Given the description of an element on the screen output the (x, y) to click on. 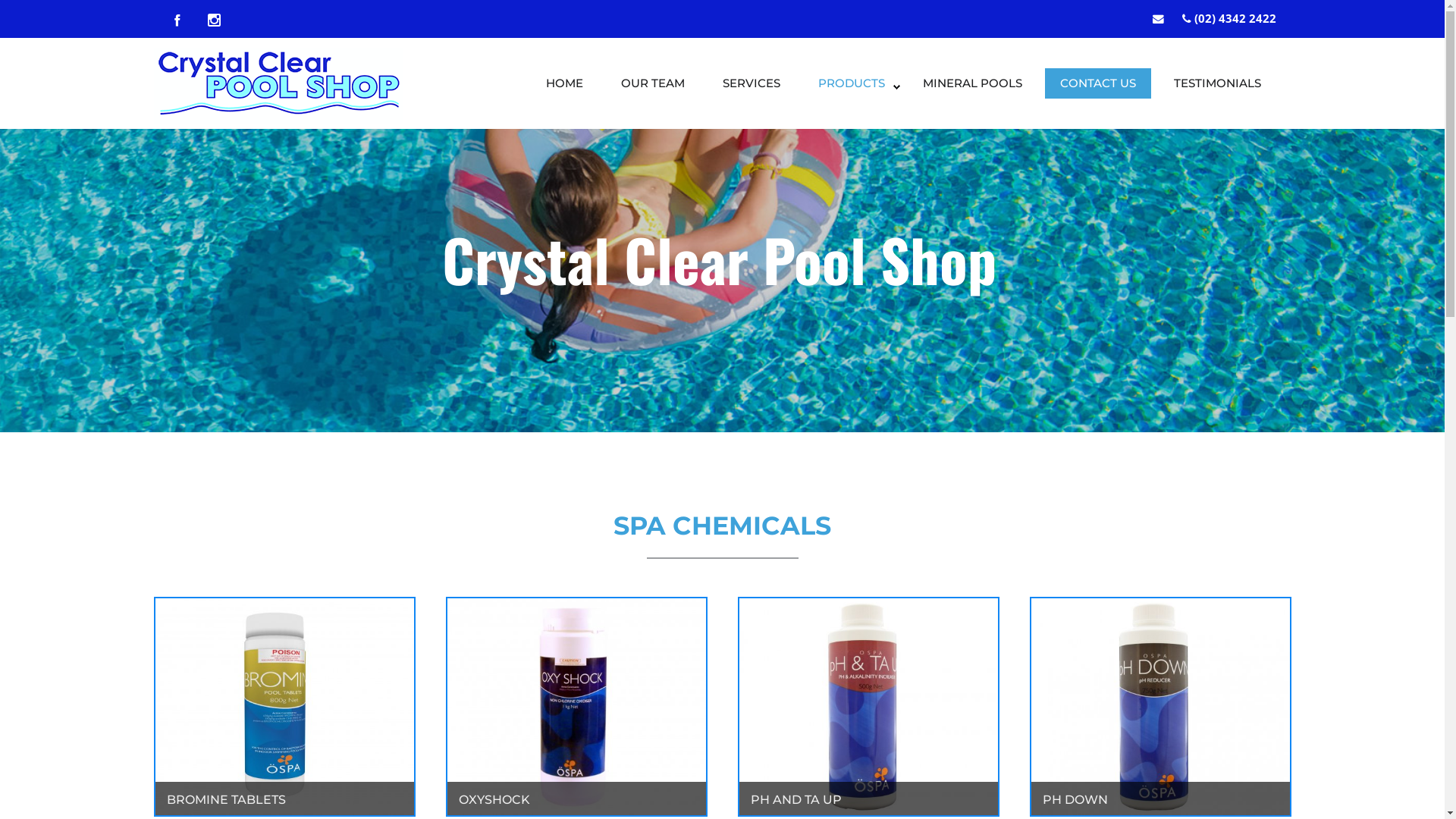
OUR TEAM Element type: text (652, 82)
SERVICES Element type: text (750, 87)
MINERAL POOLS Element type: text (971, 82)
CONTACT US Element type: text (1097, 82)
PRODUCTS Element type: text (850, 82)
TESTIMONIALS Element type: text (1217, 82)
MINERAL POOLS Element type: text (971, 87)
HOME Element type: text (564, 87)
CONTACT US Element type: text (1097, 83)
PH AND TA UP Element type: text (795, 799)
HOME Element type: text (564, 82)
PRODUCTS Element type: text (850, 87)
SERVICES Element type: text (750, 82)
BROMINE TABLETS Element type: text (225, 799)
OXYSHOCK Element type: text (493, 799)
PH DOWN Element type: text (1074, 799)
(02) 4342 2422 Element type: text (1234, 17)
TESTIMONIALS Element type: text (1217, 87)
OUR TEAM Element type: text (652, 87)
